Given the description of an element on the screen output the (x, y) to click on. 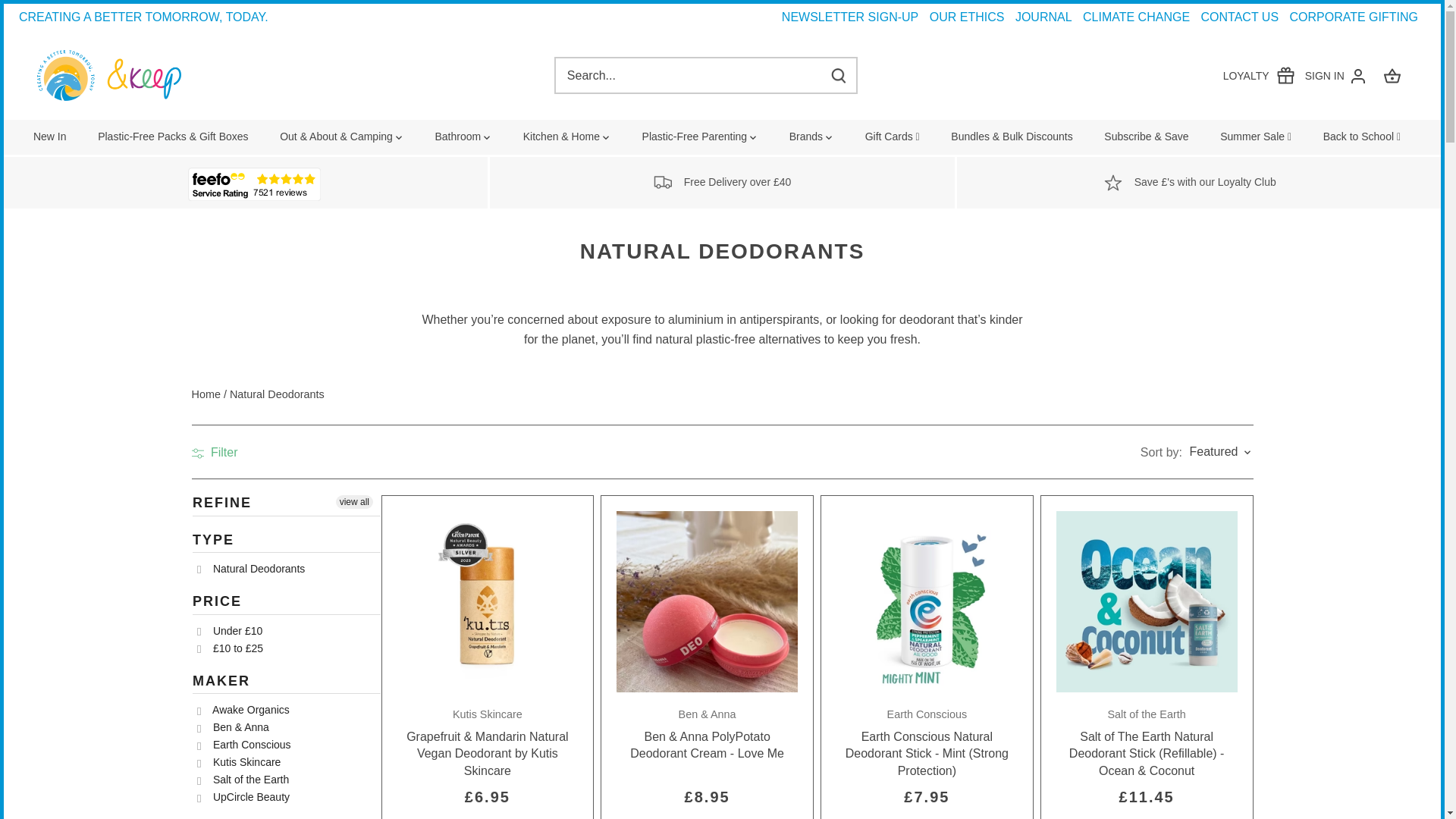
SIGN IN (1335, 75)
Natural Deodorants (286, 569)
CORPORATE GIFTING (1354, 16)
NEWSLETTER SIGN-UP (849, 16)
CONTACT US (1240, 16)
Add filter:  Kutis Skincare (238, 762)
See what our customers say about us (253, 183)
Add filter:  Earth Conscious (243, 745)
JOURNAL (286, 551)
